Given the description of an element on the screen output the (x, y) to click on. 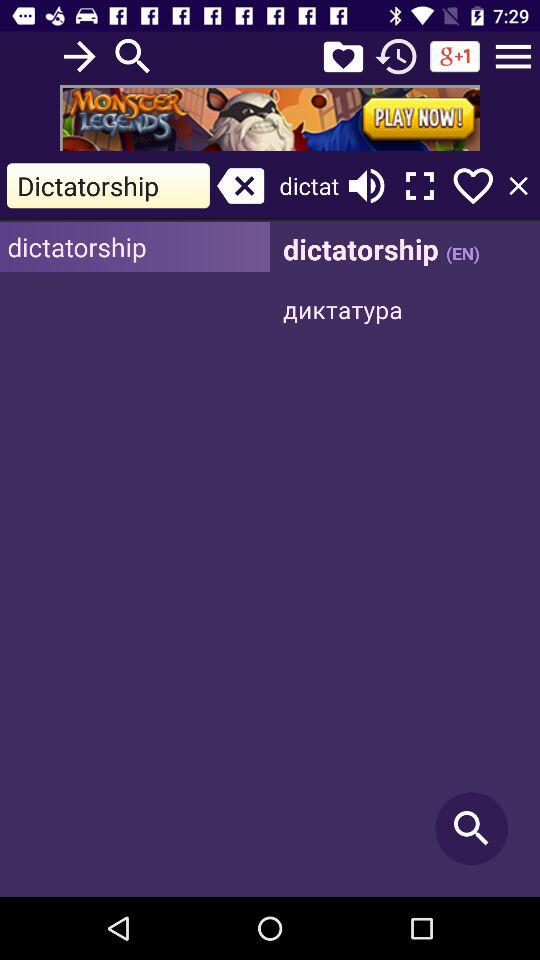
search (133, 56)
